Given the description of an element on the screen output the (x, y) to click on. 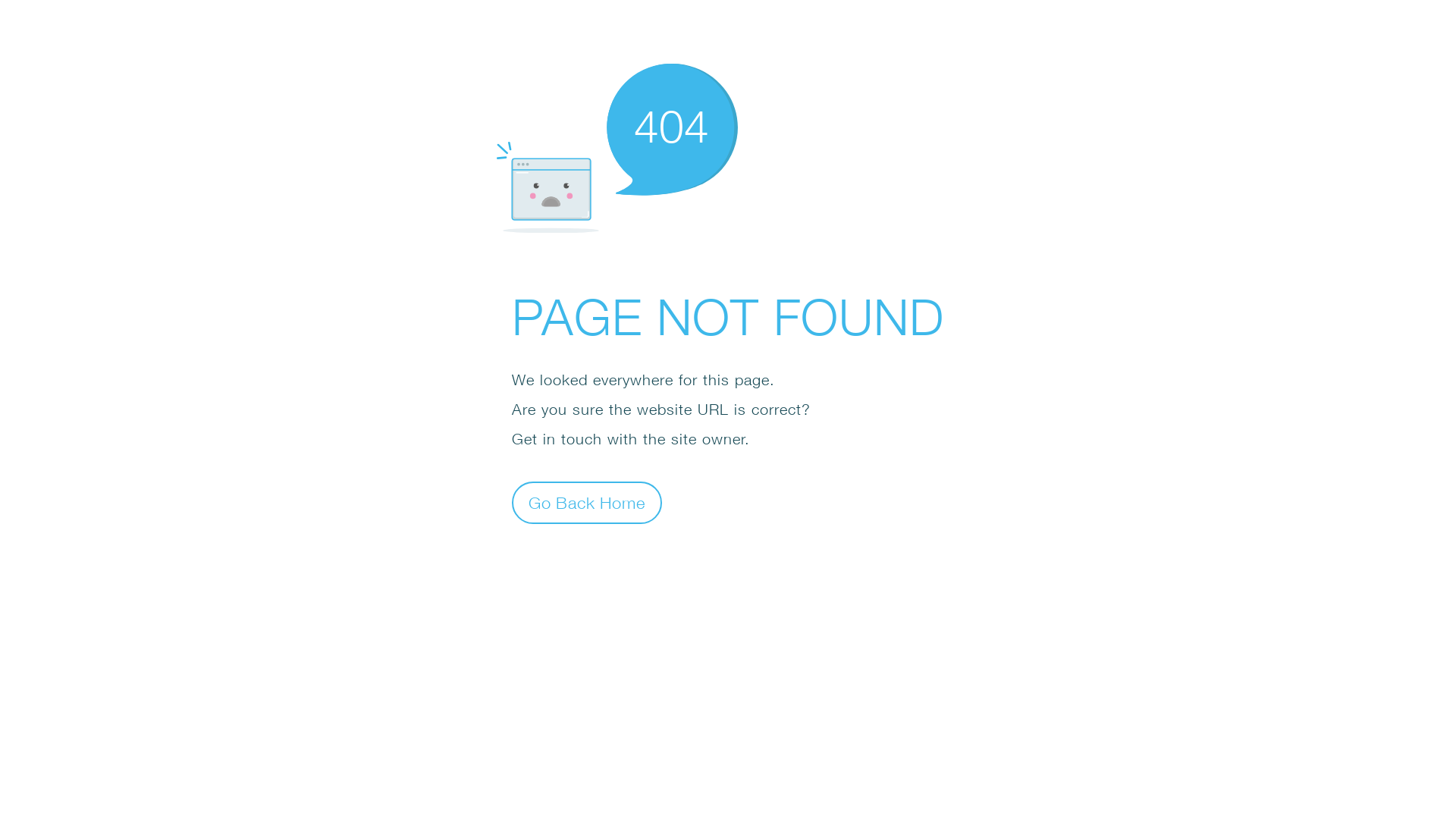
Go Back Home Element type: text (586, 502)
